Given the description of an element on the screen output the (x, y) to click on. 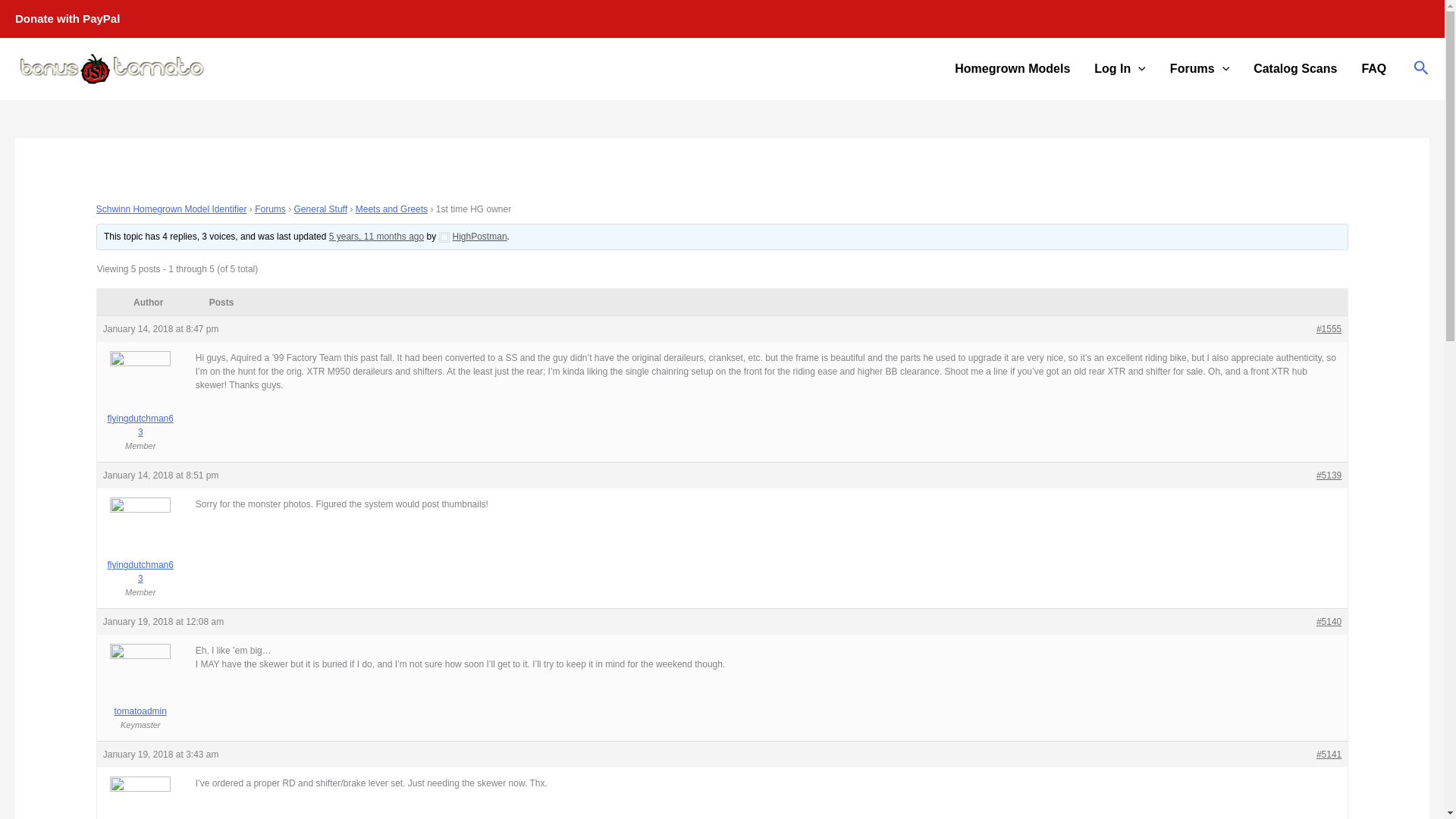
General Stuff (320, 208)
Homegrown Models (1011, 68)
Forums (269, 208)
View flyingdutchman63's profile (140, 404)
Schwinn Homegrown Model Identifier (171, 208)
Catalog Scans (1295, 68)
View HighPostman's profile (472, 235)
Donate with PayPal (66, 18)
View flyingdutchman63's profile (140, 550)
Beautiful and in great (376, 235)
View flyingdutchman63's profile (140, 807)
Meets and Greets (391, 208)
View tomatoadmin's profile (140, 690)
Forums (1199, 68)
Log In (1119, 68)
